Given the description of an element on the screen output the (x, y) to click on. 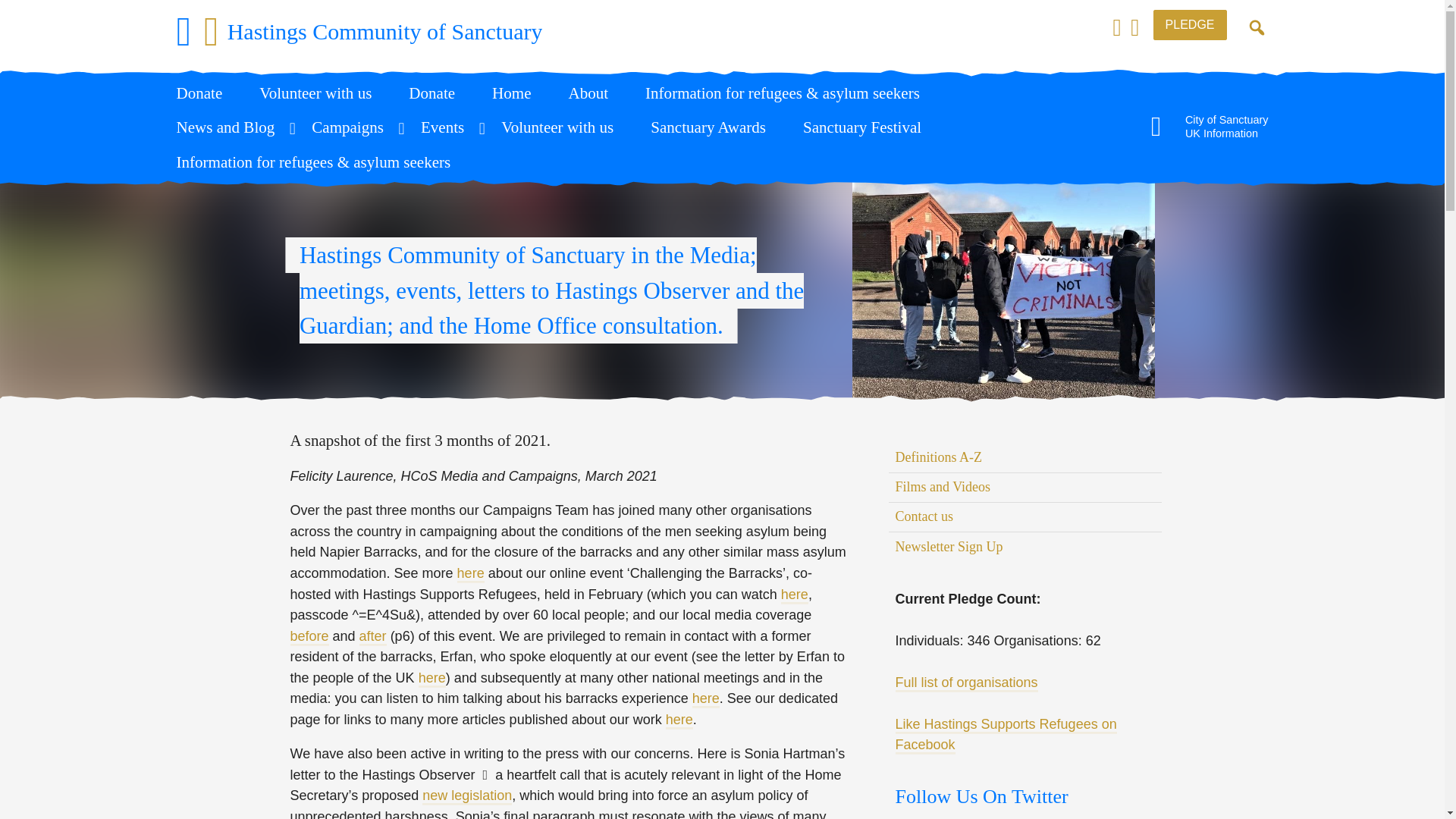
News and Blog (235, 127)
Hastings Community of Sanctuary (358, 31)
Campaigns (357, 127)
here (432, 677)
Sanctuary Awards (718, 127)
new legislation (467, 795)
here (1209, 126)
Volunteer with us (706, 698)
after (325, 93)
PLEDGE (373, 635)
Volunteer with us (1190, 24)
here (566, 127)
here (679, 719)
Donate (794, 594)
